Given the description of an element on the screen output the (x, y) to click on. 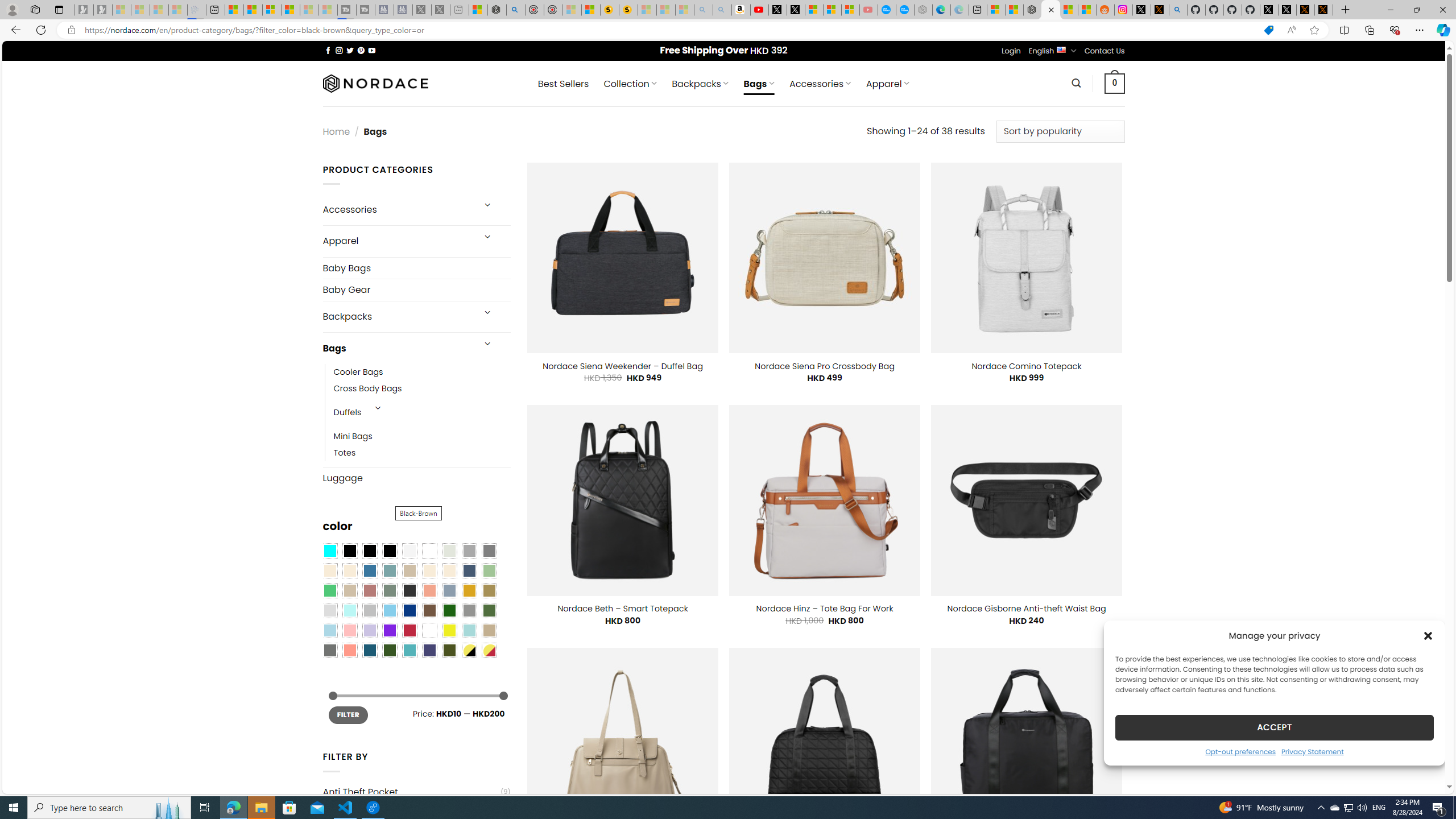
Dark Green (449, 610)
Duffels (347, 412)
X (795, 9)
Kelp (488, 590)
Privacy Statement (1312, 750)
Charcoal (408, 590)
Pearly White (408, 550)
Brownie (408, 570)
Mini Bags (422, 436)
Yellow-Black (468, 649)
Beige-Brown (349, 570)
Silver (369, 610)
